Given the description of an element on the screen output the (x, y) to click on. 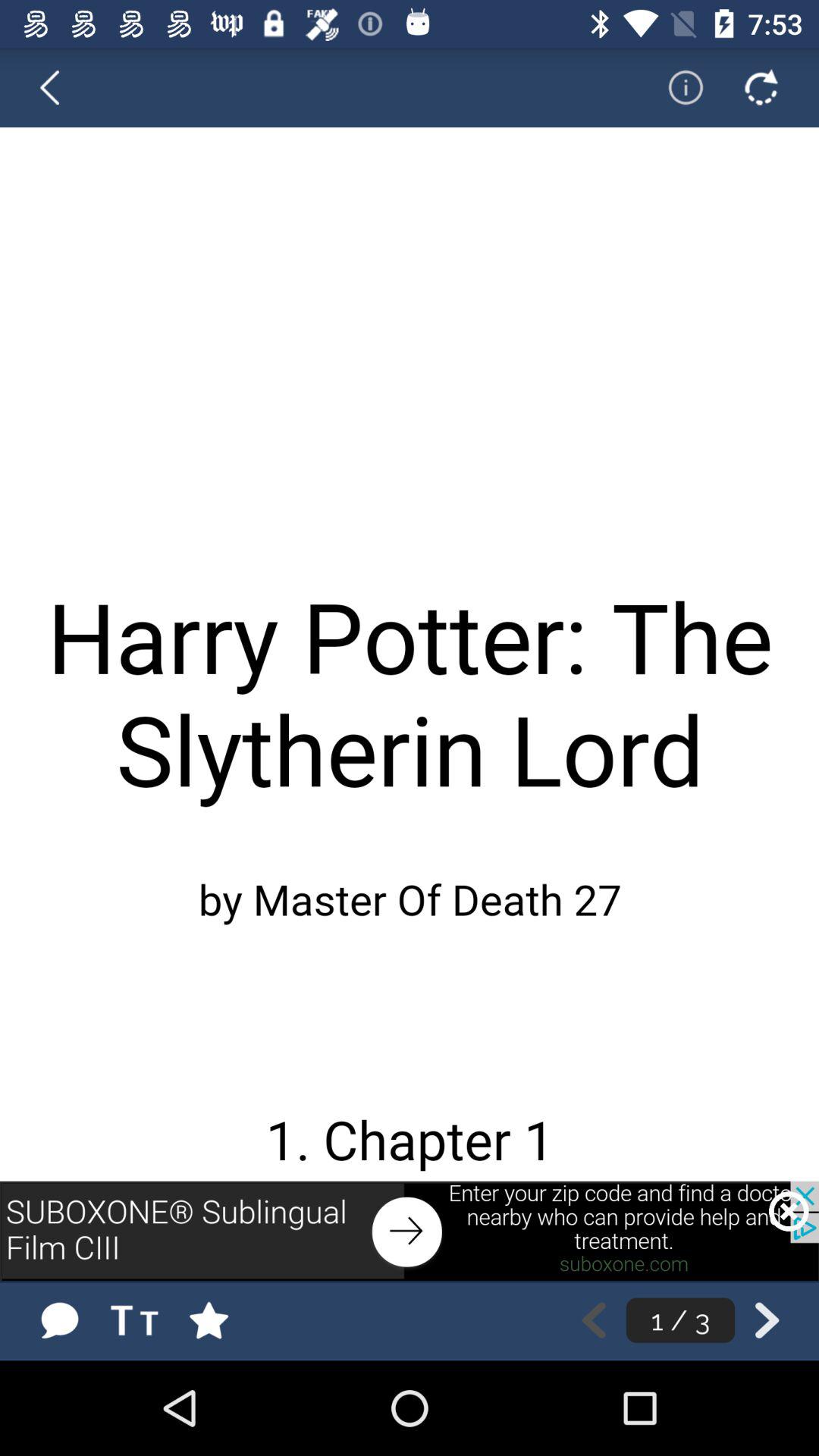
refresh (761, 87)
